Given the description of an element on the screen output the (x, y) to click on. 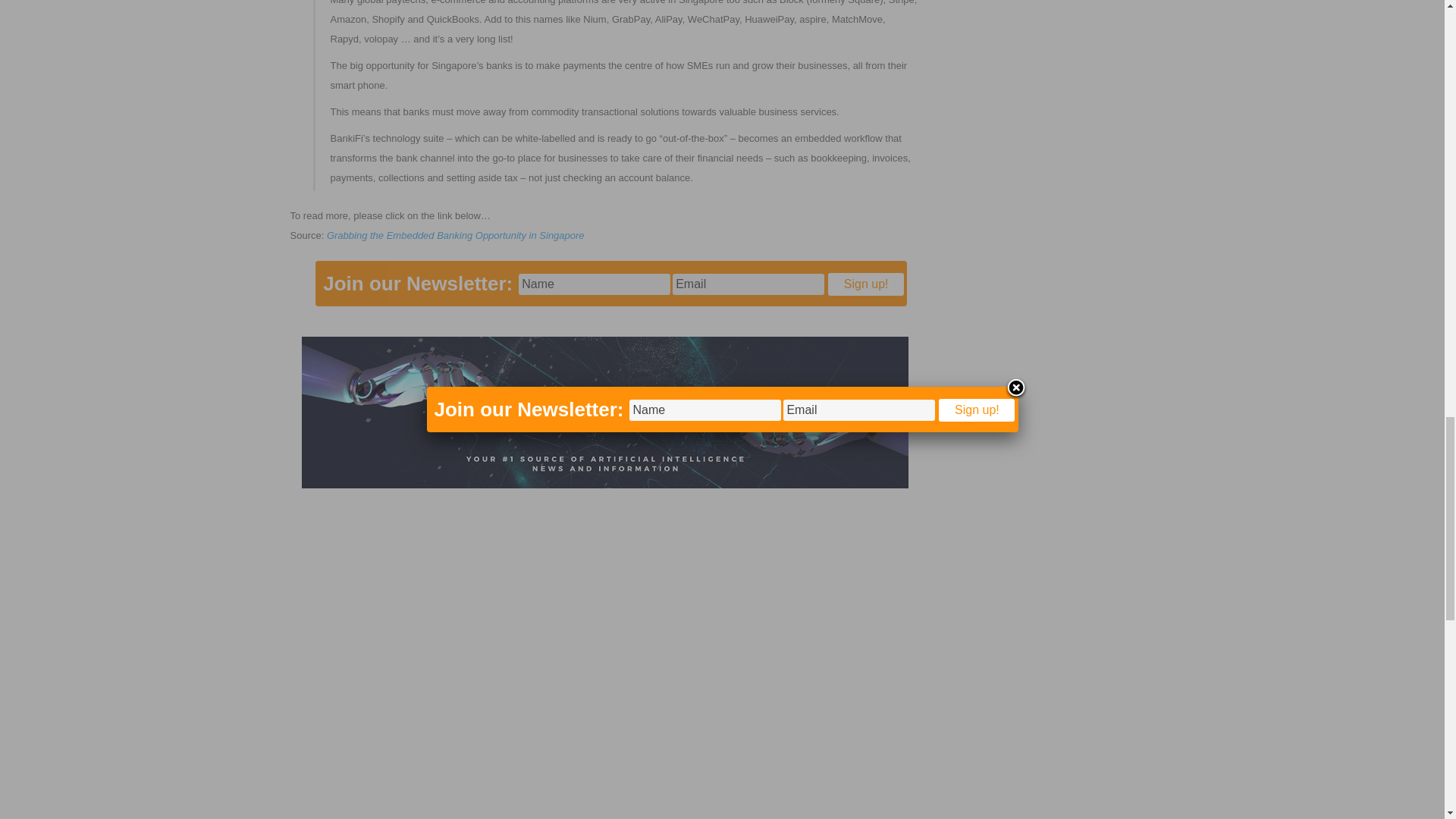
Sign up! (866, 283)
Grabbing the Embedded Banking Opportunity in Singapore (455, 235)
